Given the description of an element on the screen output the (x, y) to click on. 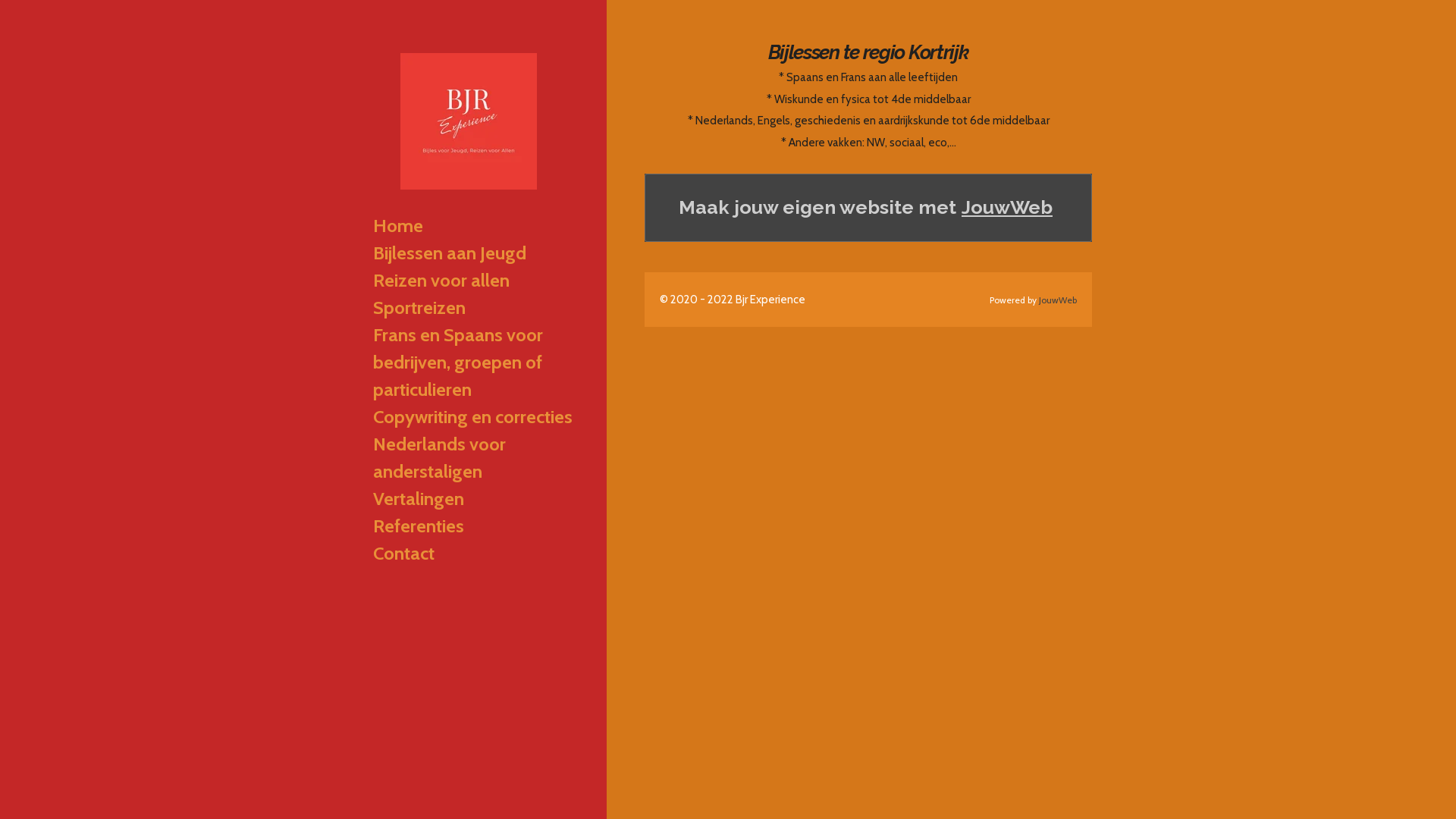
JouwWeb Element type: text (1006, 207)
JouwWeb Element type: text (1057, 299)
Vertalingen Element type: text (473, 498)
Home Element type: text (473, 225)
Contact Element type: text (473, 553)
Bijlessen aan Jeugd Element type: text (473, 252)
Reizen voor allen Element type: text (473, 280)
Bjr Lingua Element type: hover (468, 121)
Referenties Element type: text (473, 525)
Copywriting en correcties Element type: text (473, 416)
Frans en Spaans voor bedrijven, groepen of particulieren Element type: text (473, 362)
Nederlands voor anderstaligen Element type: text (473, 457)
Sportreizen Element type: text (473, 307)
